Given the description of an element on the screen output the (x, y) to click on. 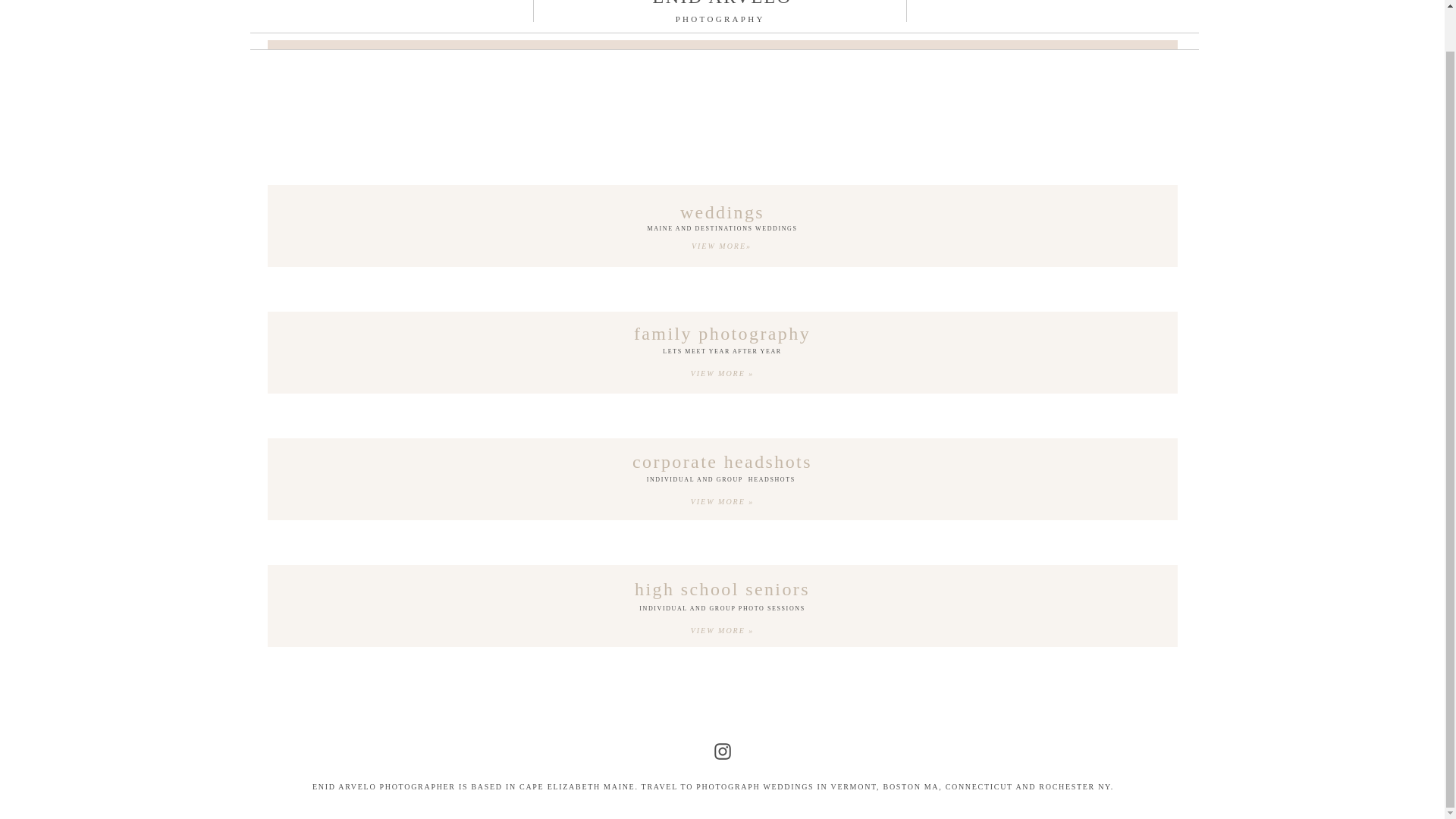
ENID ARVELO (722, 5)
LETS MEET YEAR AFTER YEAR (722, 353)
MAINE AND DESTINATIONS WEDDINGS (722, 231)
Instagram-color Created with Sketch. (721, 751)
Instagram-color Created with Sketch. (721, 751)
high school seniors (722, 588)
corporate headshots (722, 461)
weddings (722, 211)
INDIVIDUAL AND GROUP  HEADSHOTS  (722, 481)
family photography (722, 332)
INDIVIDUAL AND GROUP PHOTO SESSIONS (722, 611)
